Given the description of an element on the screen output the (x, y) to click on. 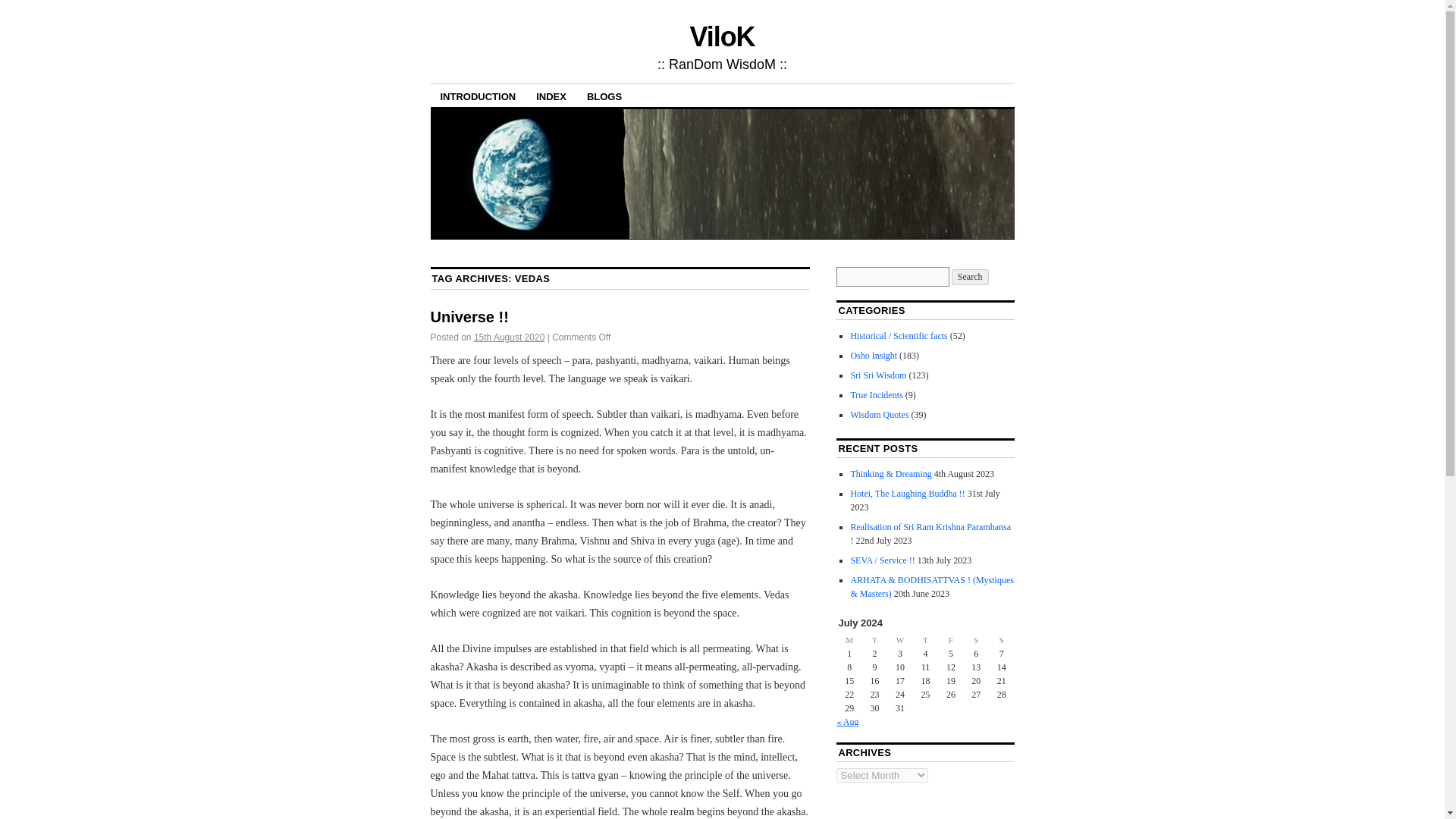
Wisdom Quotes (879, 414)
20:24 (509, 337)
Search (970, 277)
Sunday (1000, 640)
ViloK (722, 36)
15th August 2020 (509, 337)
Saturday (975, 640)
Wednesday (899, 640)
True Incidents (876, 394)
INDEX (550, 96)
Thursday (924, 640)
BLOGS (603, 96)
INTRODUCTION (477, 96)
Universe !! (469, 316)
Hotei, The Laughing Buddha !! (906, 493)
